Given the description of an element on the screen output the (x, y) to click on. 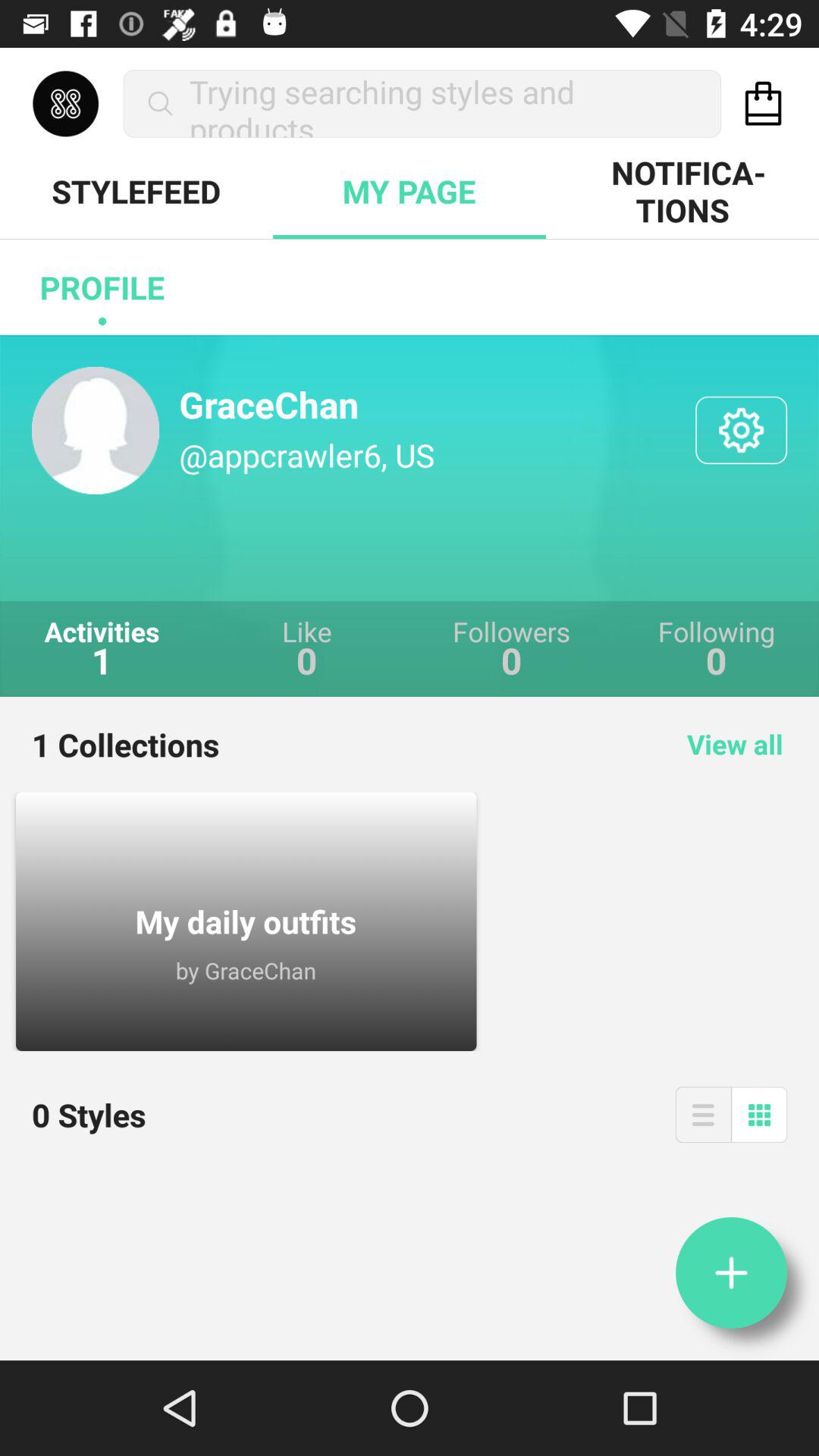
swipe until the trying searching styles icon (422, 103)
